Given the description of an element on the screen output the (x, y) to click on. 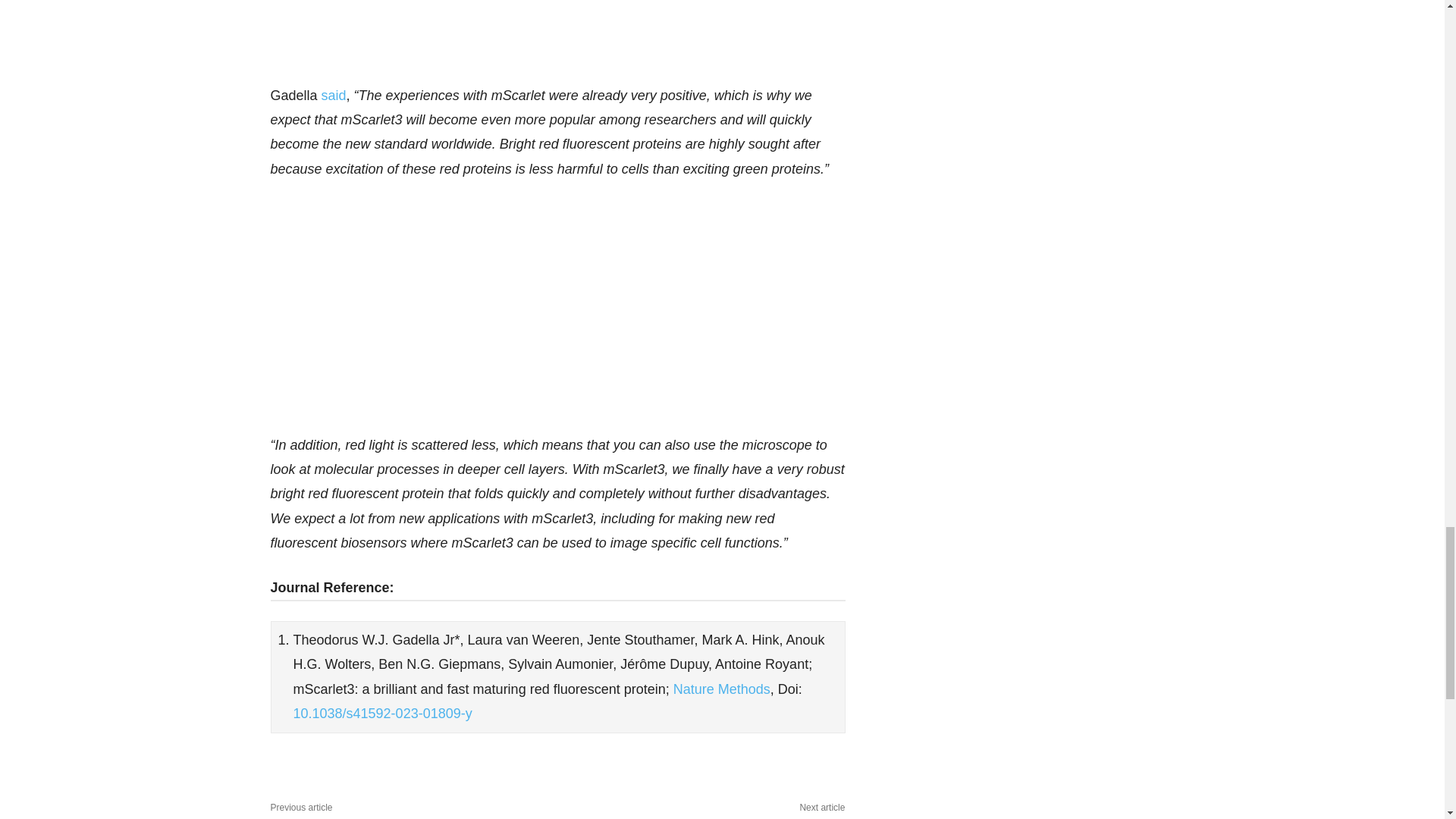
said (333, 95)
Nature Methods (721, 688)
